Given the description of an element on the screen output the (x, y) to click on. 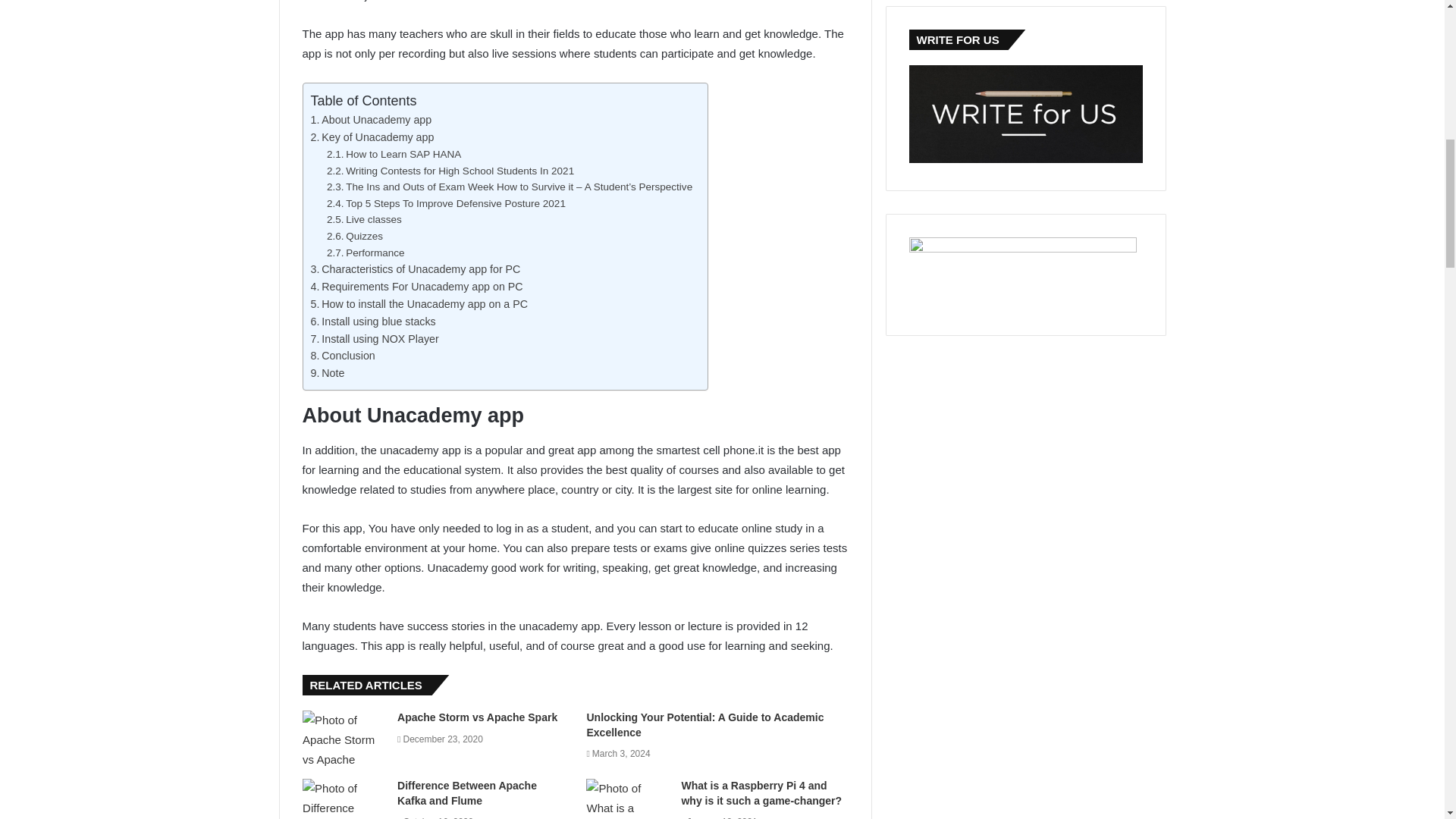
Writing Contests for High School Students In 2021 (449, 170)
Quizzes (354, 235)
About Unacademy app (371, 119)
How to Learn SAP HANA (393, 153)
About Unacademy app (371, 119)
Performance (365, 252)
Conclusion (343, 355)
Install using NOX Player (375, 338)
Live classes (363, 219)
Key of Unacademy app (372, 137)
